Given the description of an element on the screen output the (x, y) to click on. 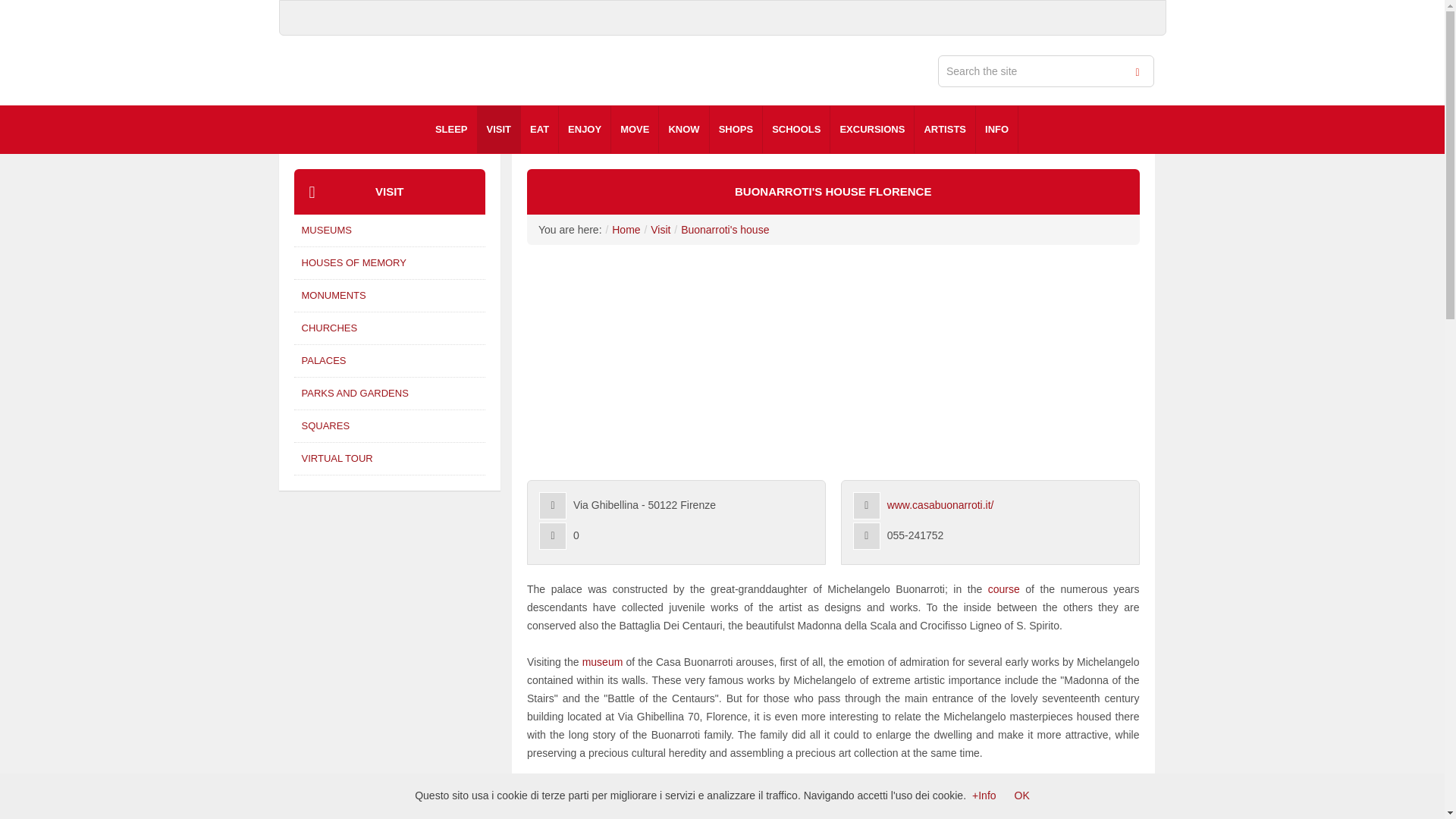
Web site (866, 505)
SLEEP (451, 129)
Address (552, 505)
Advertisement (49, 639)
VISIT (499, 129)
Advertisement (389, 649)
EAT (539, 129)
Telephone (866, 535)
Price (552, 535)
